Given the description of an element on the screen output the (x, y) to click on. 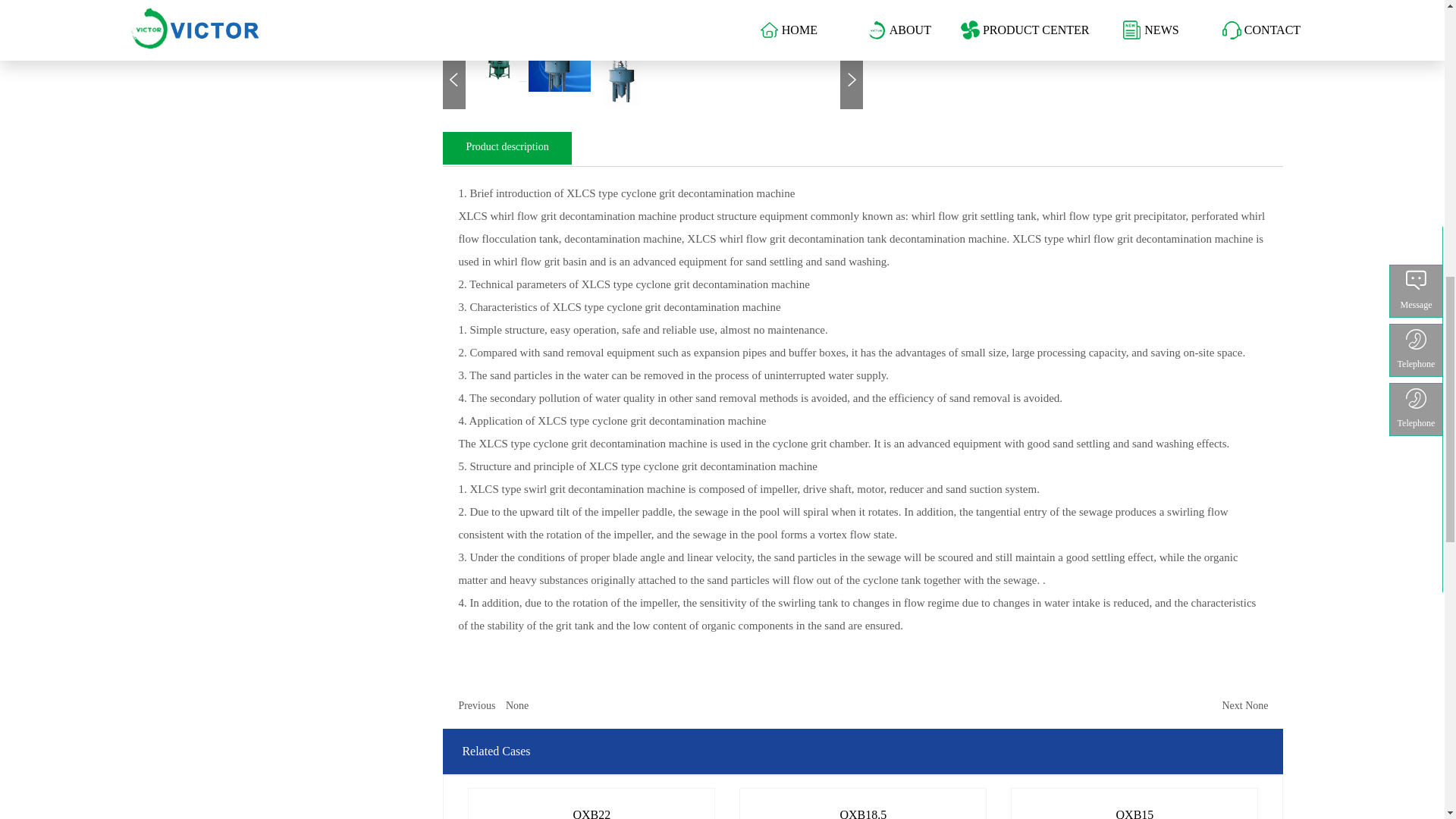
QXB15 (1134, 808)
c4-3 (559, 70)
QXB22 (591, 808)
QXB22 (591, 803)
c4-2 (496, 65)
c4-1 (621, 79)
QXB18.5 (862, 808)
QXB15 (1134, 803)
QXB18.5 (862, 803)
